Given the description of an element on the screen output the (x, y) to click on. 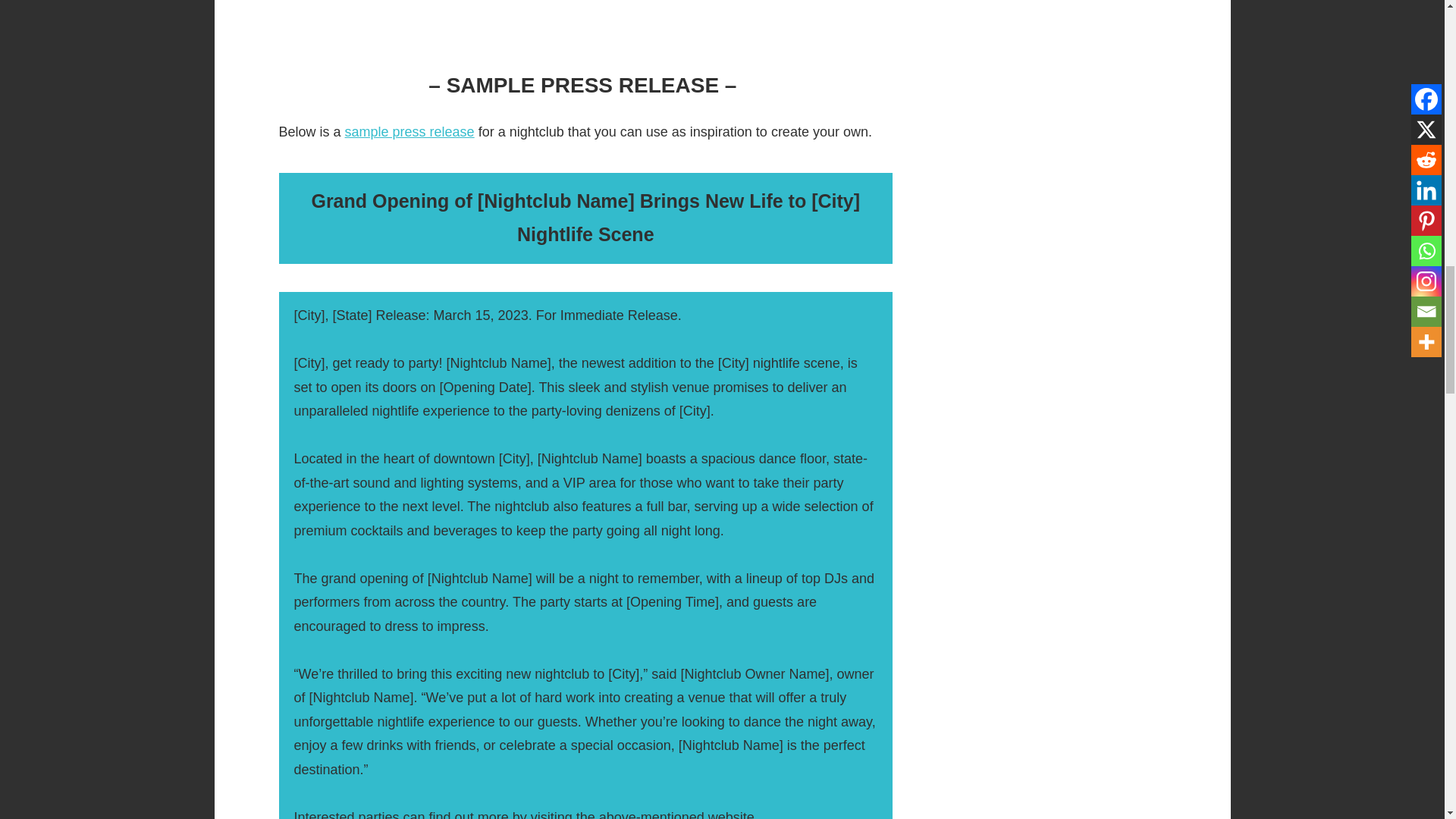
sample press release (409, 131)
